Given the description of an element on the screen output the (x, y) to click on. 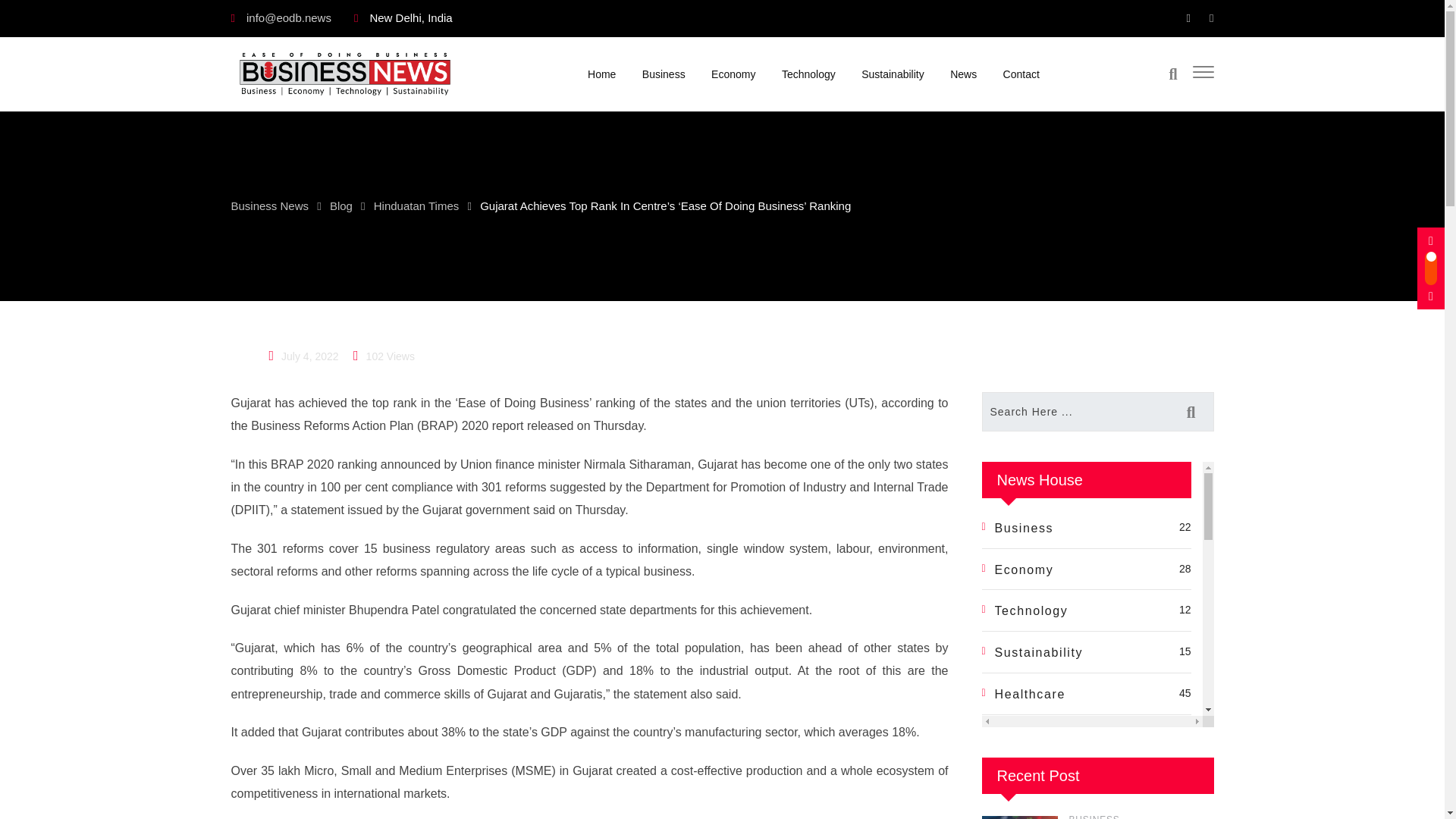
Blog (341, 205)
Hinduatan Times (417, 205)
Technology (808, 73)
Go to Business News. (269, 205)
Go to the Hinduatan Times Category archives. (417, 205)
Go to Blog. (341, 205)
Sustainability (893, 73)
Business News (269, 205)
Economy (733, 73)
